Given the description of an element on the screen output the (x, y) to click on. 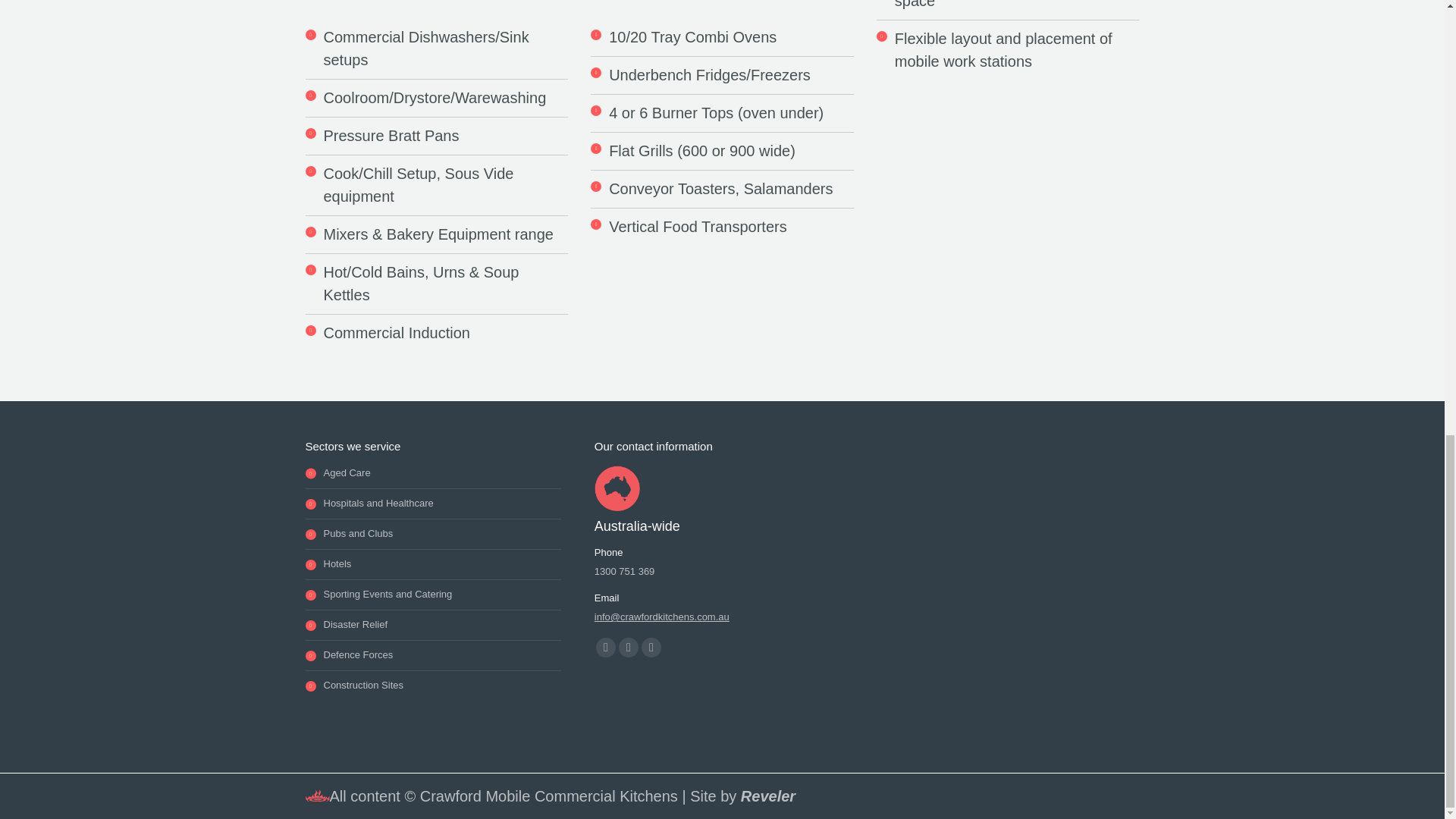
Reveler (767, 795)
Linkedin page opens in new window (651, 647)
Linkedin page opens in new window (651, 647)
X page opens in new window (628, 647)
X page opens in new window (628, 647)
Facebook page opens in new window (605, 647)
Facebook page opens in new window (605, 647)
